Given the description of an element on the screen output the (x, y) to click on. 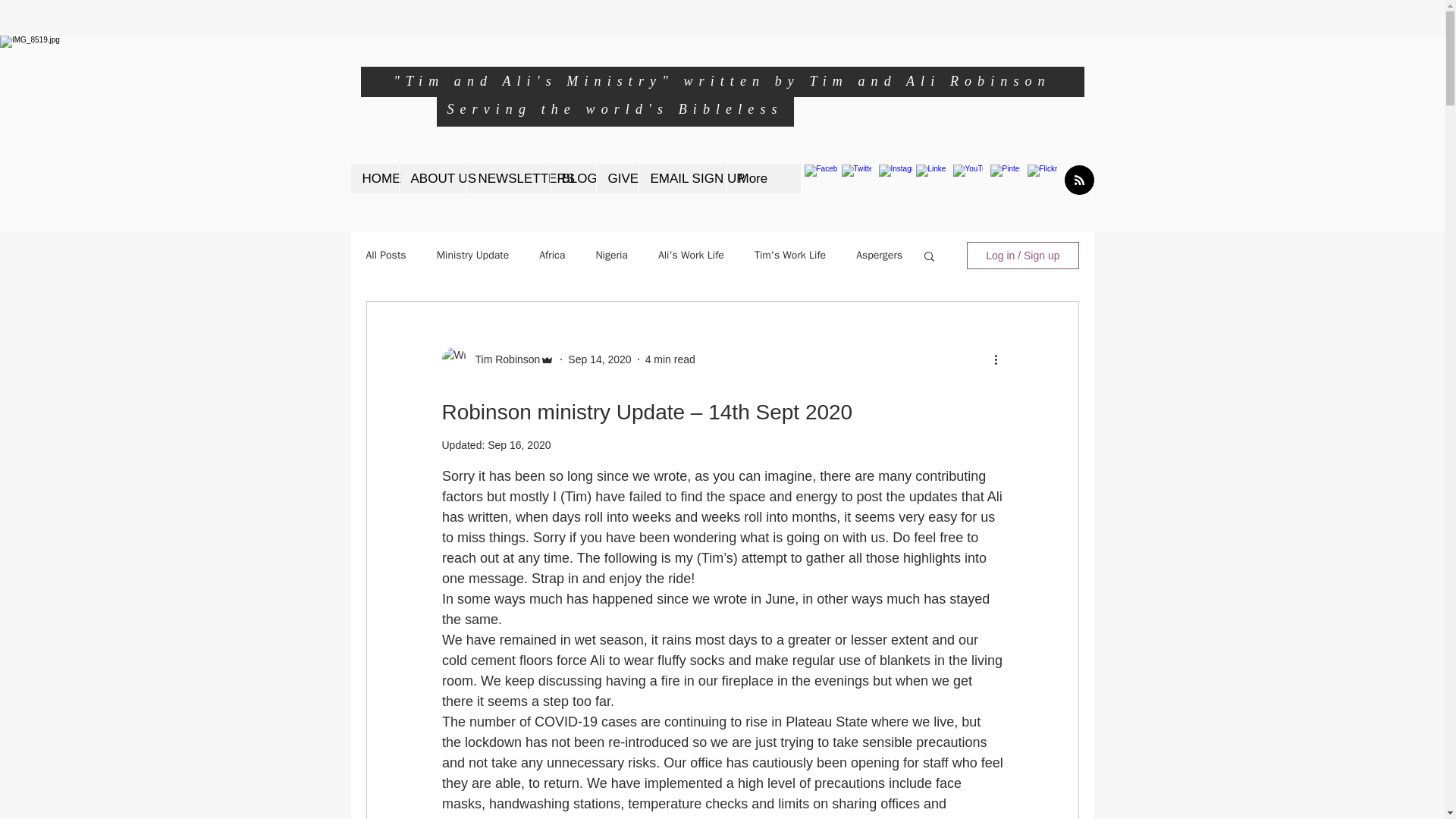
HOME (373, 178)
All Posts (385, 255)
Africa (551, 255)
Aspergers (879, 255)
Ali's Work Life (690, 255)
Tim's Work Life (789, 255)
"Tim and Ali's Ministry" written by Tim and Ali Robinson (721, 80)
ABOUT US (431, 178)
GIVE (617, 178)
Serving the world's Bibleless (614, 109)
